Given the description of an element on the screen output the (x, y) to click on. 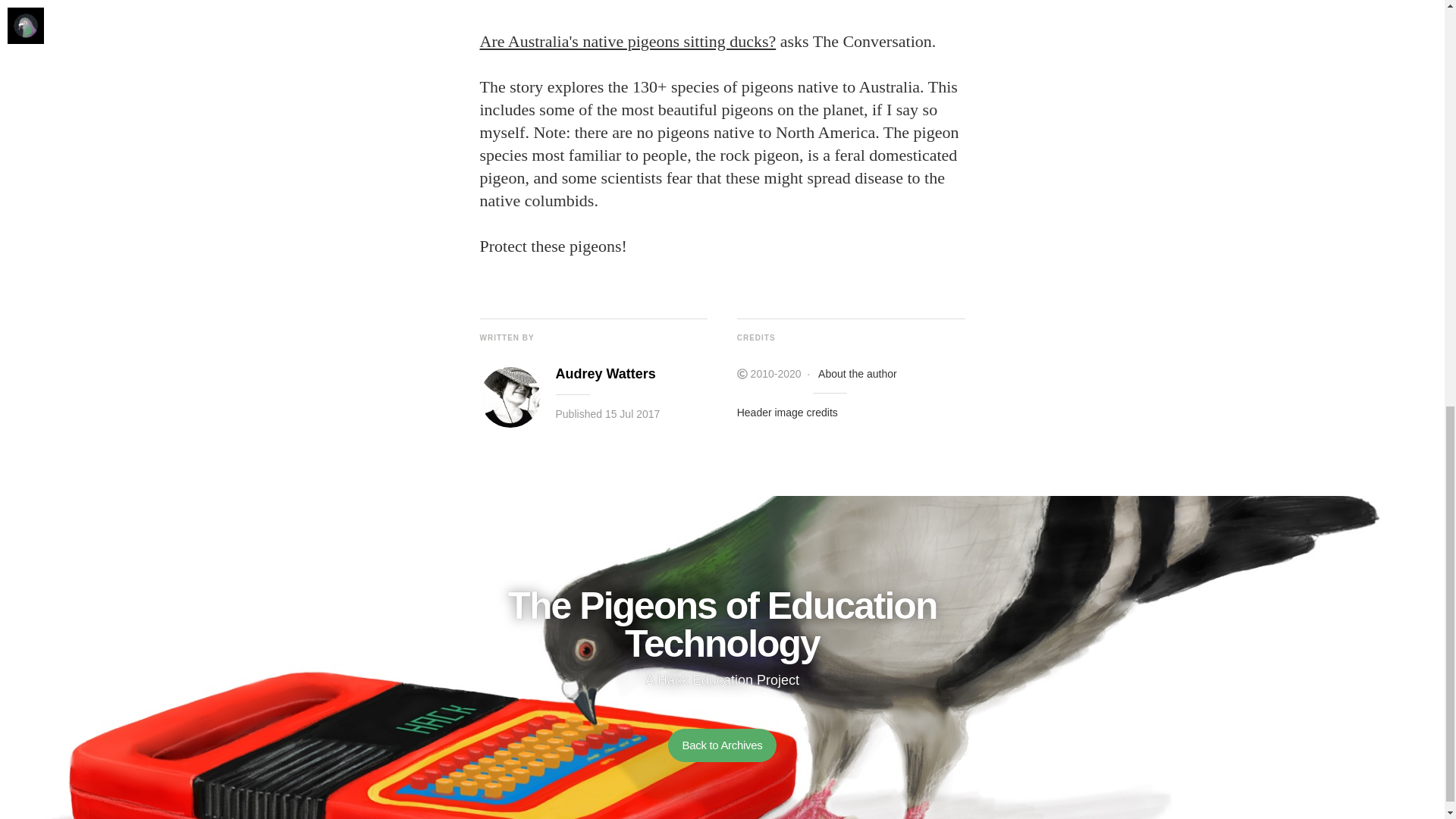
About the author (857, 373)
Are Australia's native pigeons sitting ducks? (627, 40)
Back to Archives (722, 745)
Header image credits (787, 412)
